Given the description of an element on the screen output the (x, y) to click on. 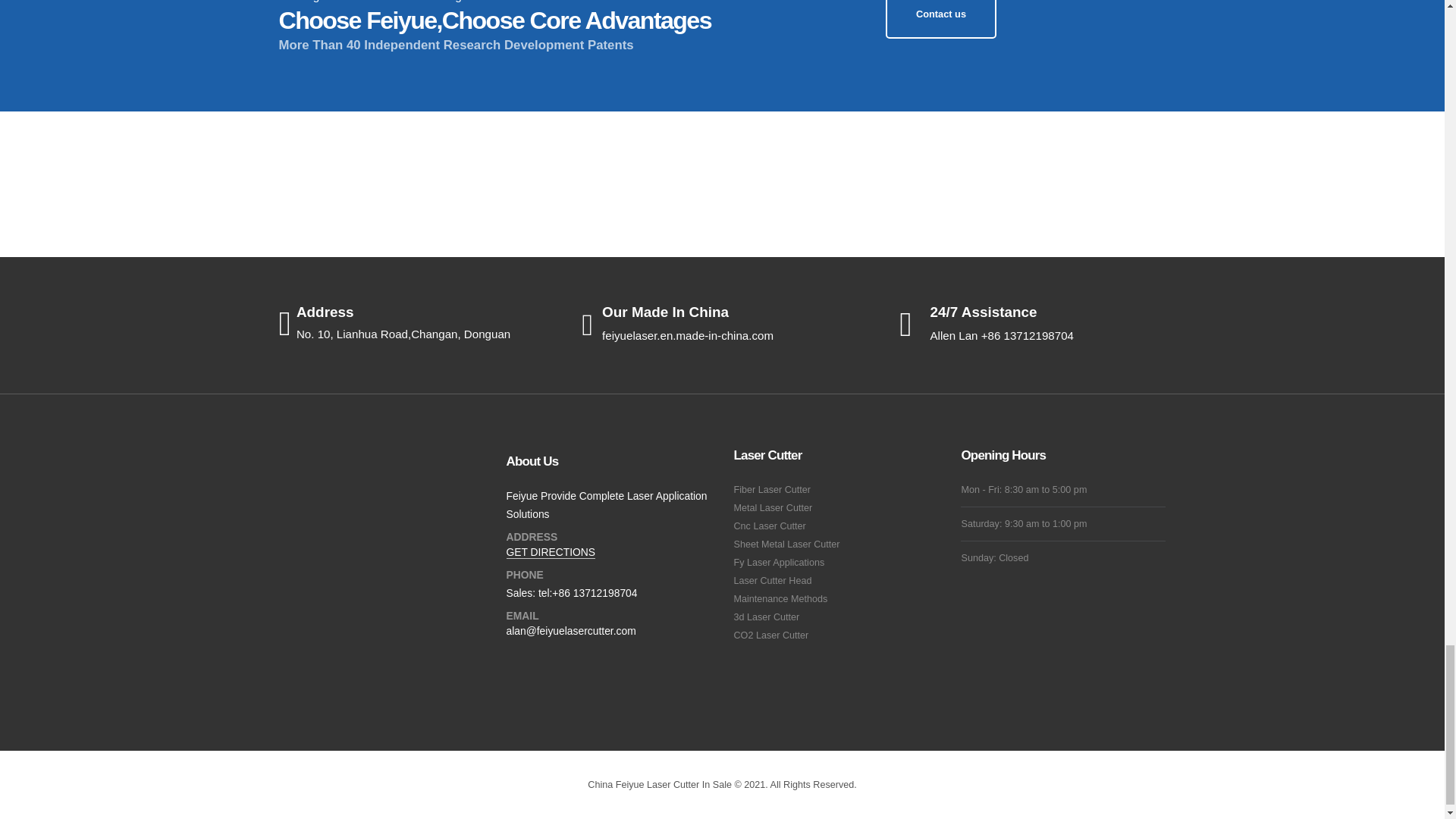
Appointment (941, 18)
